Given the description of an element on the screen output the (x, y) to click on. 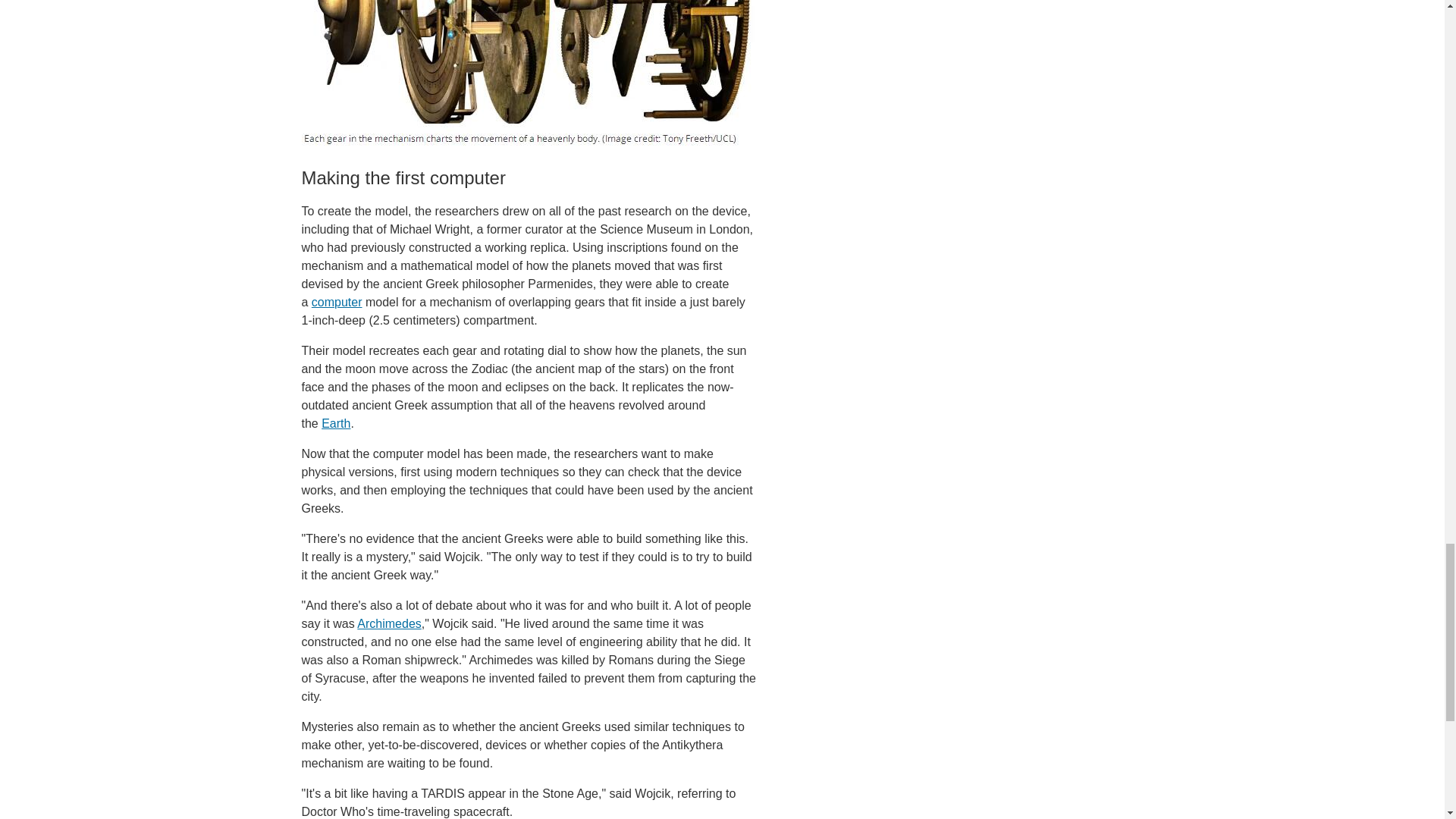
Archimedes (388, 623)
computer (336, 301)
Earth (335, 422)
